Given the description of an element on the screen output the (x, y) to click on. 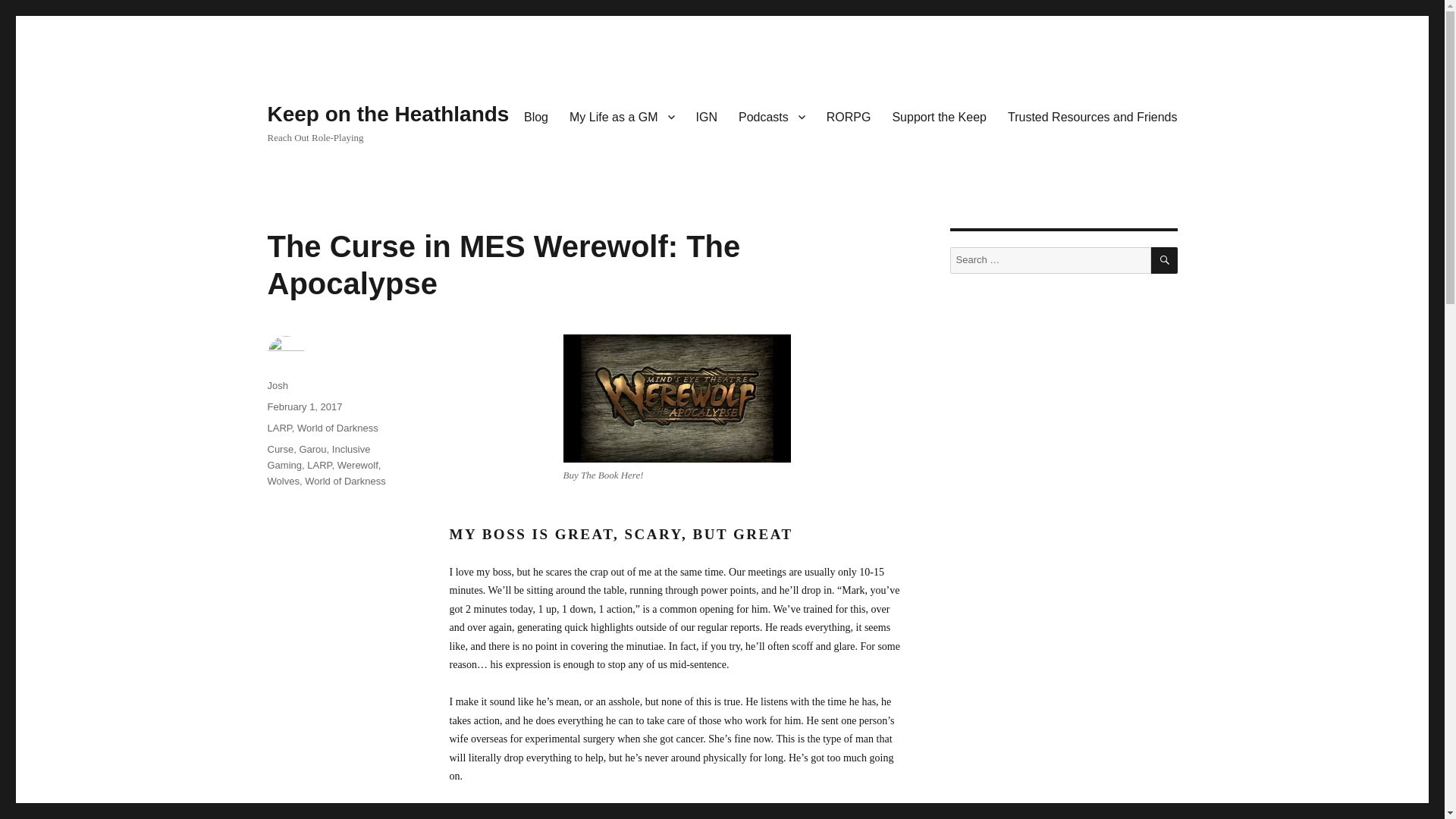
LARP (319, 464)
Garou (312, 449)
Josh (276, 385)
Curse (280, 449)
Trusted Resources and Friends (1092, 116)
World of Darkness (344, 480)
My Life as a GM (621, 116)
Blog (536, 116)
Werewolf (357, 464)
February 1, 2017 (304, 406)
SEARCH (1164, 260)
IGN (706, 116)
LARP (278, 428)
World of Darkness (337, 428)
RORPG (848, 116)
